Given the description of an element on the screen output the (x, y) to click on. 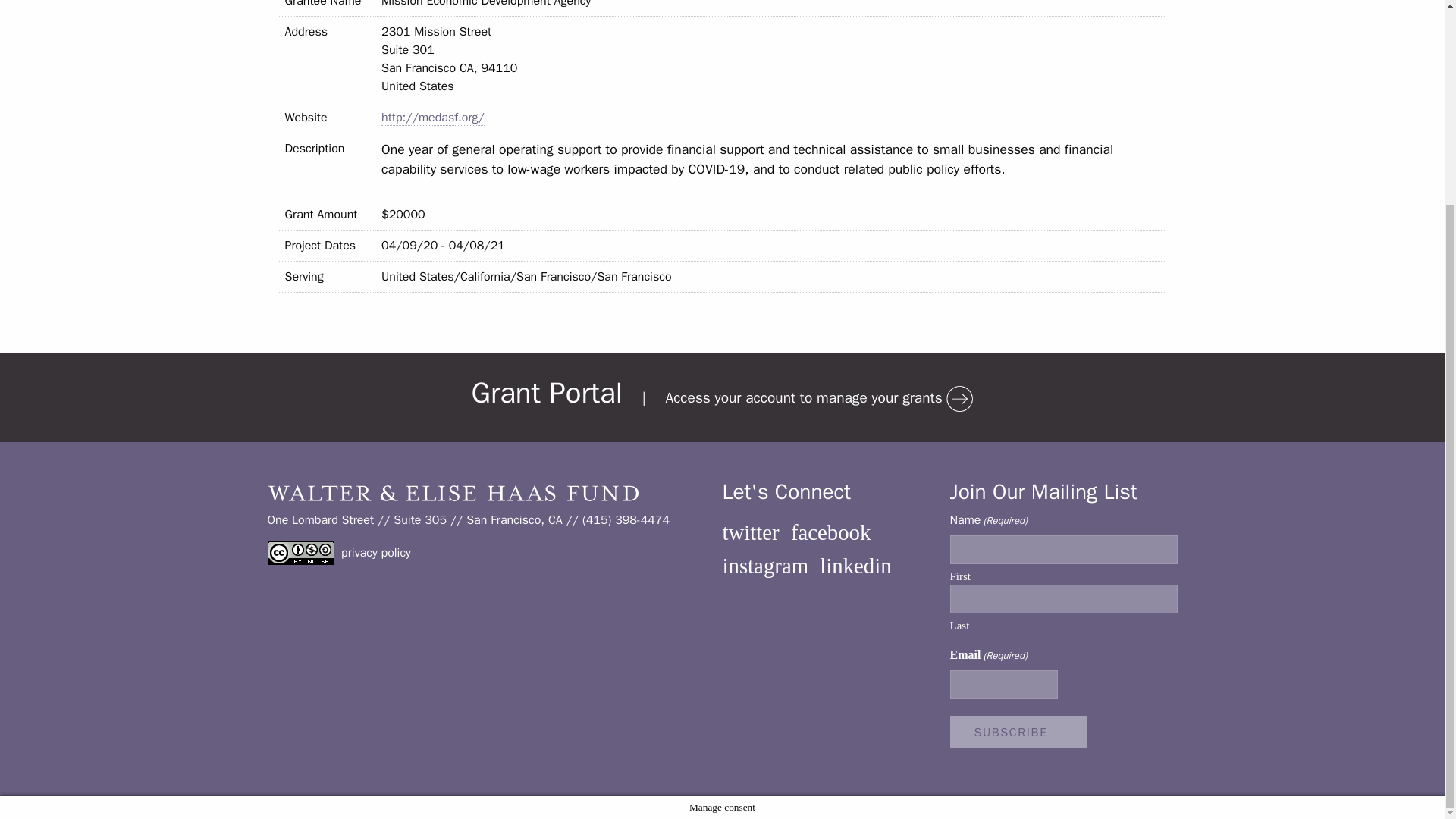
instagram (765, 565)
facebook (830, 532)
privacy policy (375, 552)
SUBSCRIBE (1017, 731)
twitter (750, 532)
linkedin (855, 565)
